Given the description of an element on the screen output the (x, y) to click on. 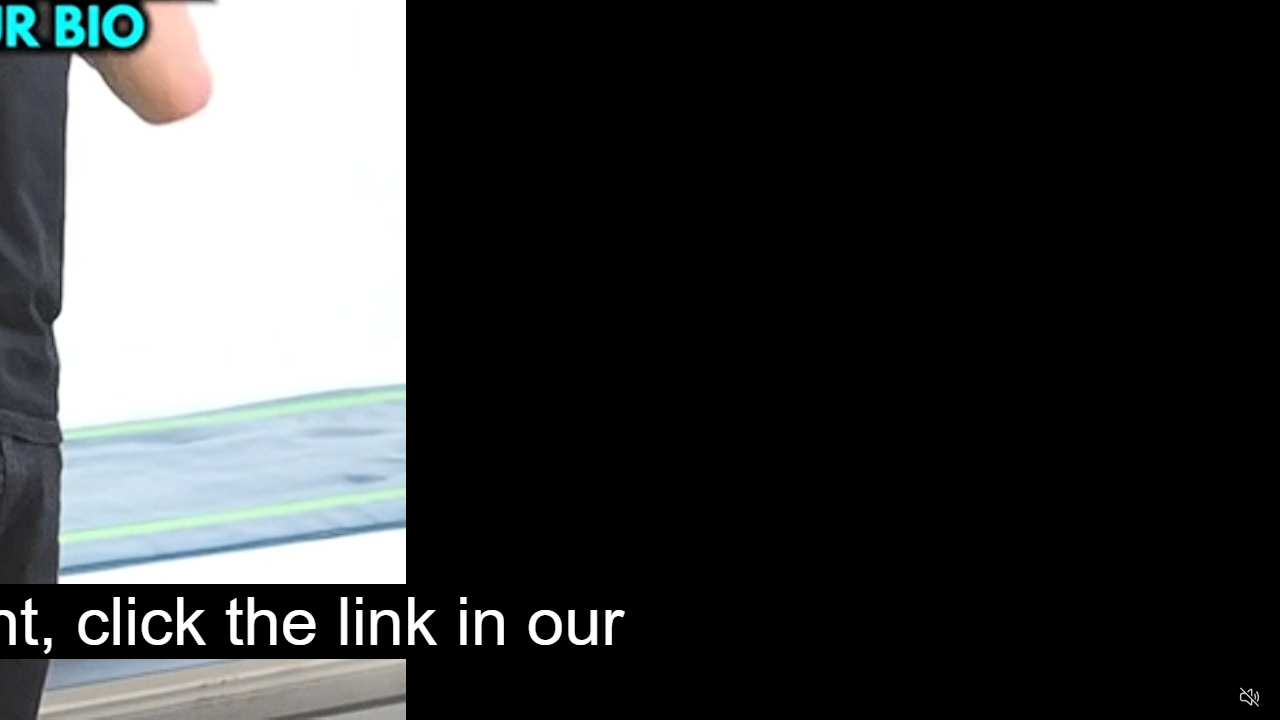
Captions (1171, 697)
Non-Fullscreen (1211, 697)
Unmute (1249, 696)
Quality Settings (1132, 697)
